Given the description of an element on the screen output the (x, y) to click on. 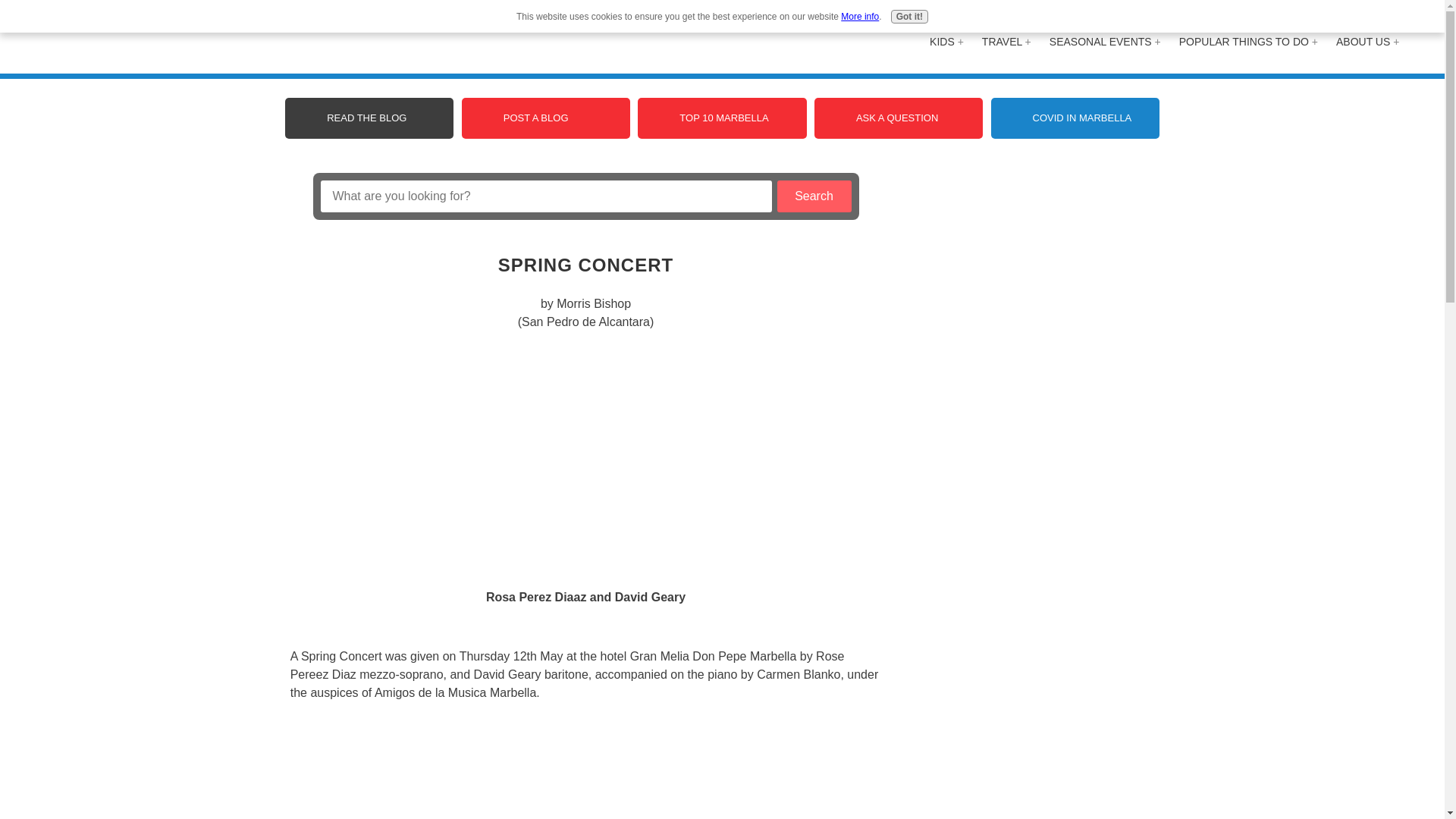
READ THE BLOG (368, 117)
Rosa Perez Diaaz and David Geary  (584, 456)
TOP 10 MARBELLA (721, 117)
ENG (1384, 14)
Search (813, 196)
COVID IN MARBELLA (1074, 117)
POST A BLOG (545, 117)
ESP (1349, 14)
MARBELLAFAMILYFUN.COM (160, 38)
ASK A QUESTION (897, 117)
